Given the description of an element on the screen output the (x, y) to click on. 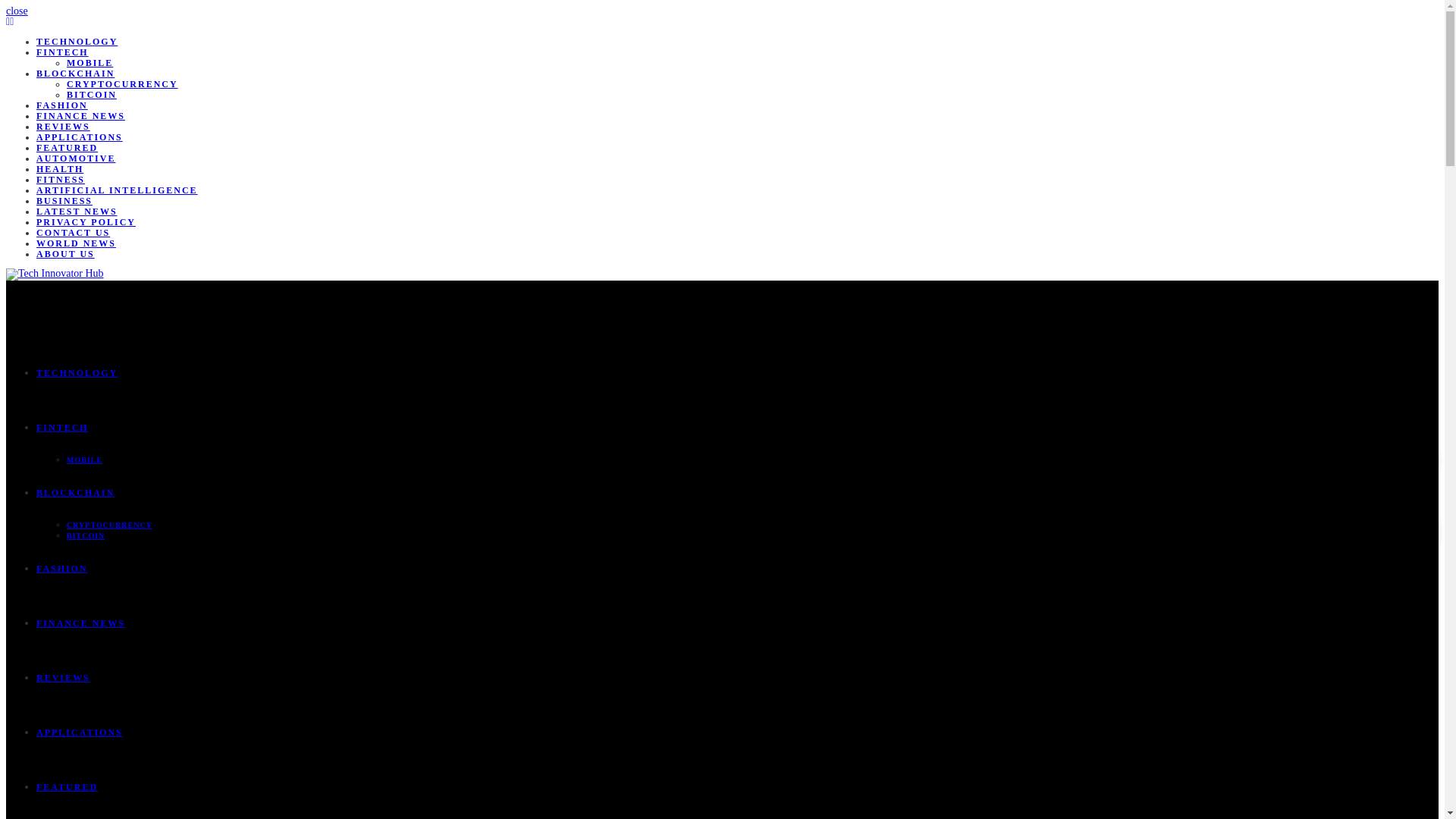
FINANCE NEWS (80, 115)
CONTACT US (73, 232)
FINTECH (62, 427)
BITCOIN (91, 94)
BLOCKCHAIN (75, 492)
LATEST NEWS (76, 211)
MOBILE (83, 459)
MOBILE (89, 62)
APPLICATIONS (79, 732)
ABOUT US (65, 253)
TECHNOLOGY (76, 372)
Tech Innovator Hub (54, 273)
TECHNOLOGY (76, 41)
FASHION (61, 104)
FEATURED (66, 147)
